Given the description of an element on the screen output the (x, y) to click on. 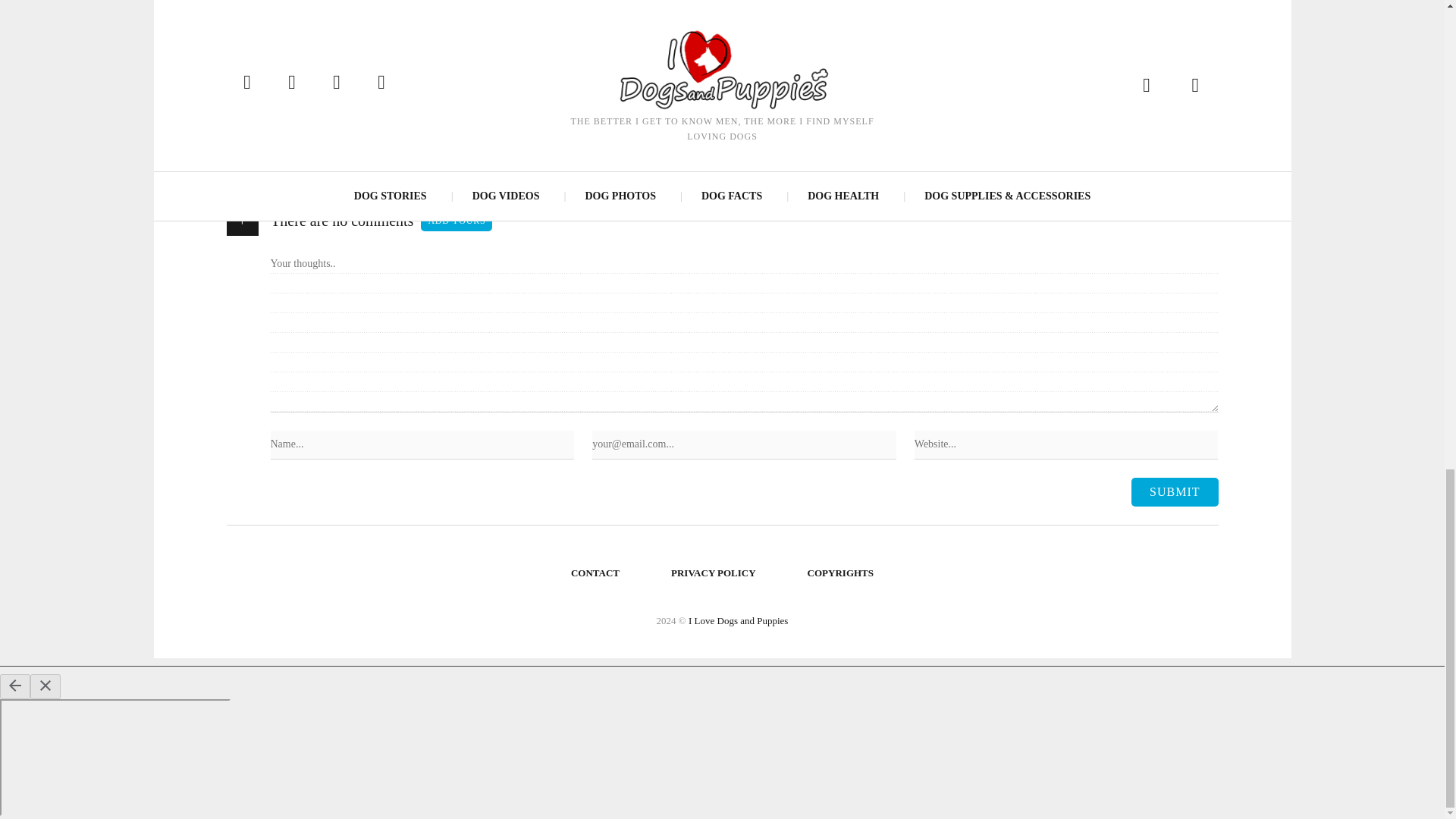
COPYRIGHTS (839, 573)
View all posts in Dog Videos (342, 98)
I Love Dogs and Puppies (737, 620)
Share (505, 27)
View all posts tagged animals (298, 128)
Submit (1174, 491)
DOGS (345, 128)
CONTACT (595, 573)
View all posts tagged Pug (448, 128)
View all posts tagged Dogs (345, 128)
Tweet (979, 27)
PRIVACY POLICY (714, 573)
FUNNYDOGS (397, 128)
ANIMALS (298, 128)
Submit (1174, 491)
